Given the description of an element on the screen output the (x, y) to click on. 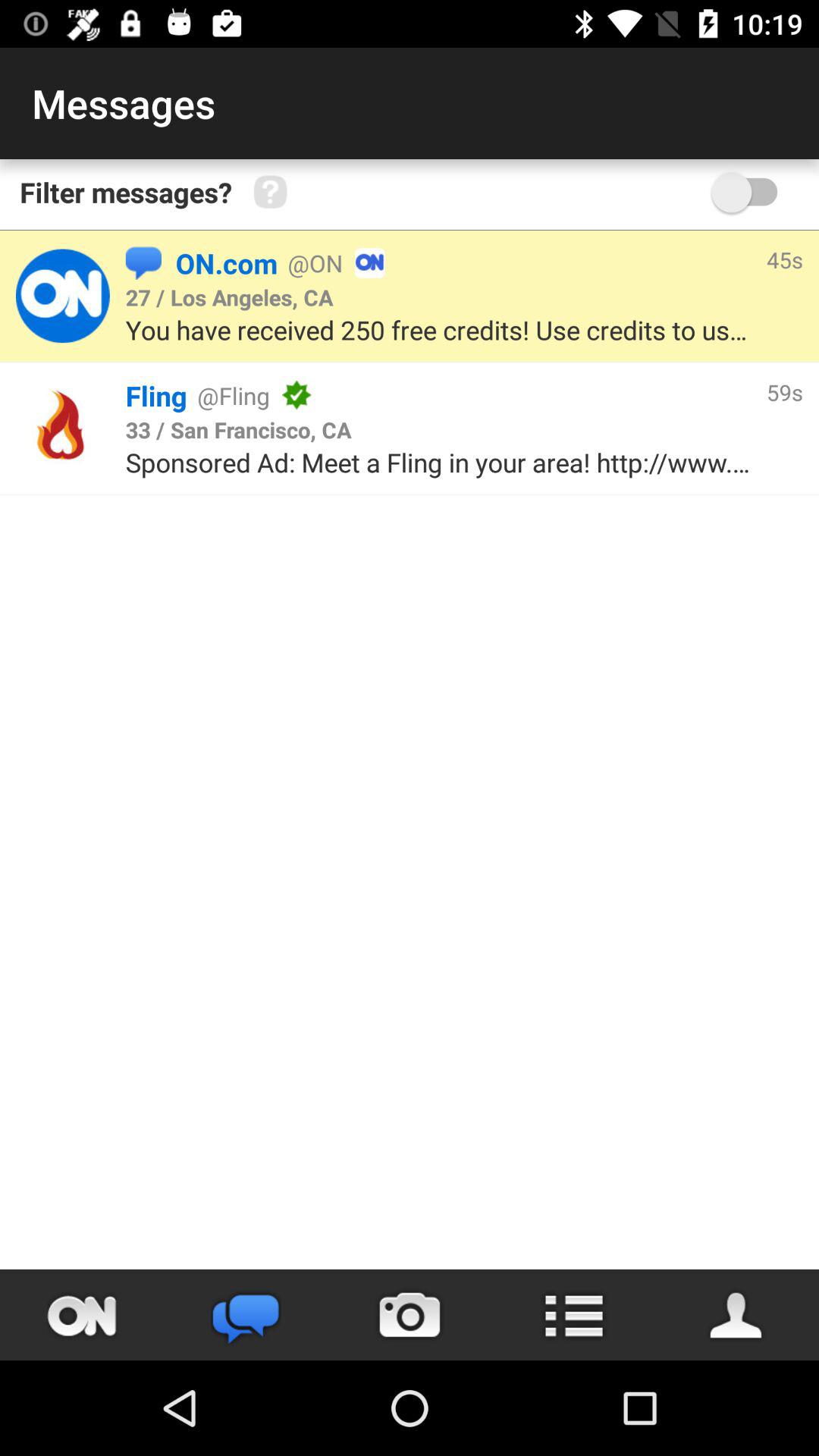
jump until the you have received item (441, 329)
